Given the description of an element on the screen output the (x, y) to click on. 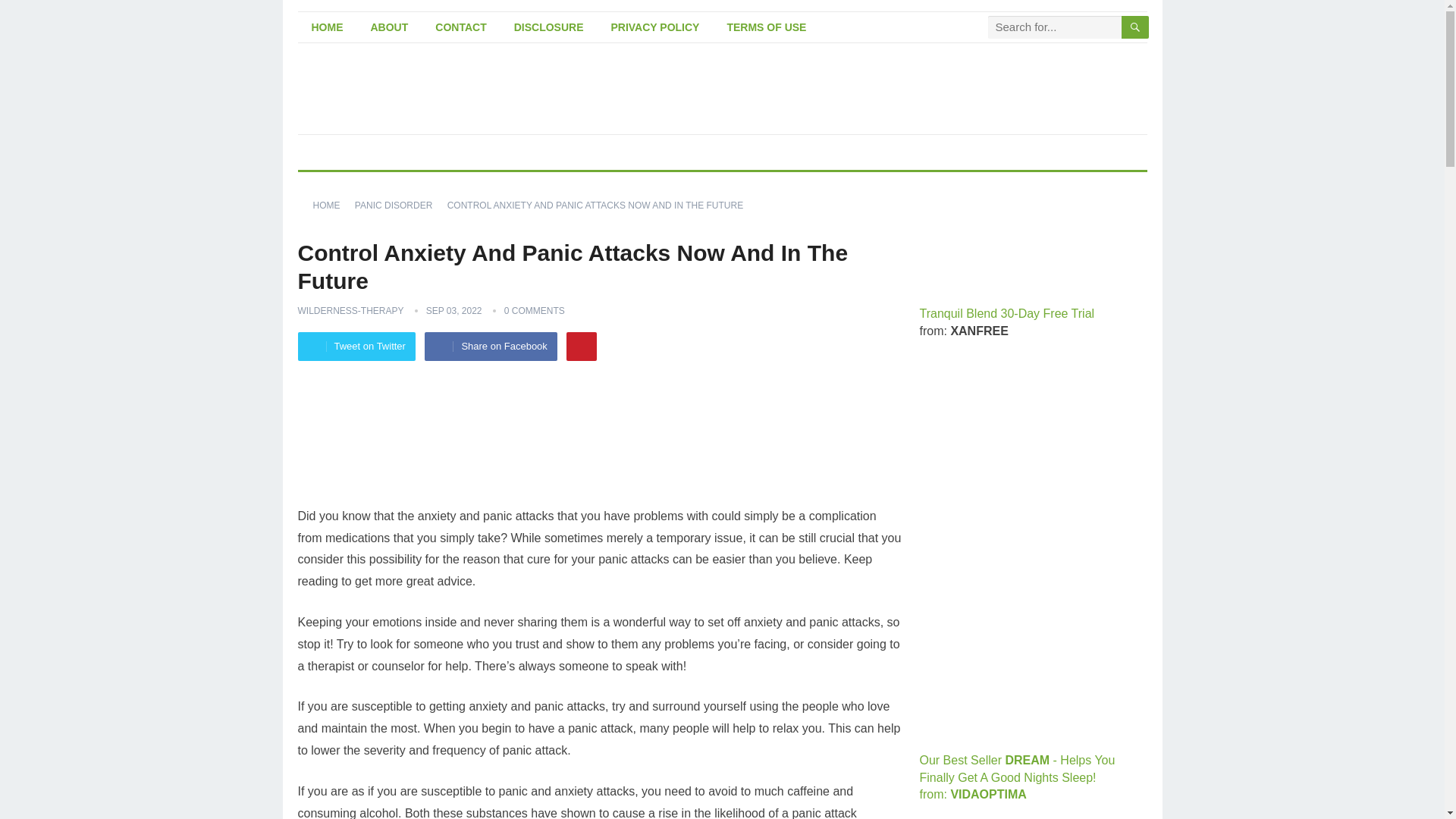
PANIC DISORDER (398, 204)
Pinterest (581, 346)
ABOUT (389, 27)
HOME (326, 27)
WILDERNESS-THERAPY (350, 310)
Share on Facebook (490, 346)
Tweet on Twitter (355, 346)
CONTACT (460, 27)
DISCLOSURE (548, 27)
HOME (331, 204)
